Given the description of an element on the screen output the (x, y) to click on. 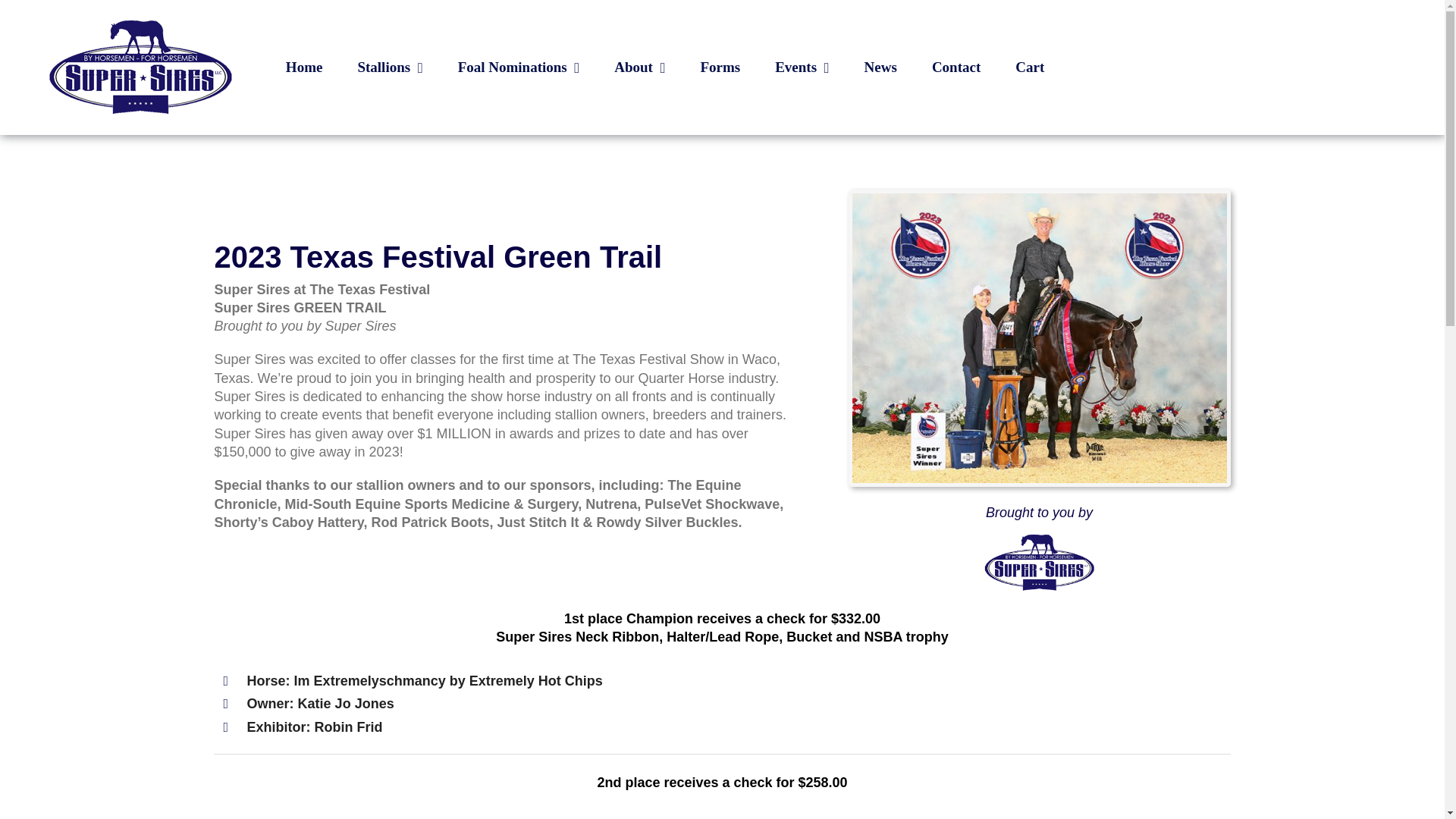
Stallions (389, 66)
Home (304, 66)
Events (801, 66)
News (880, 66)
Contact (955, 66)
Forms (719, 66)
Foal Nominations (518, 66)
About (639, 66)
Super Sires logo (1038, 562)
Cart (1028, 66)
